Given the description of an element on the screen output the (x, y) to click on. 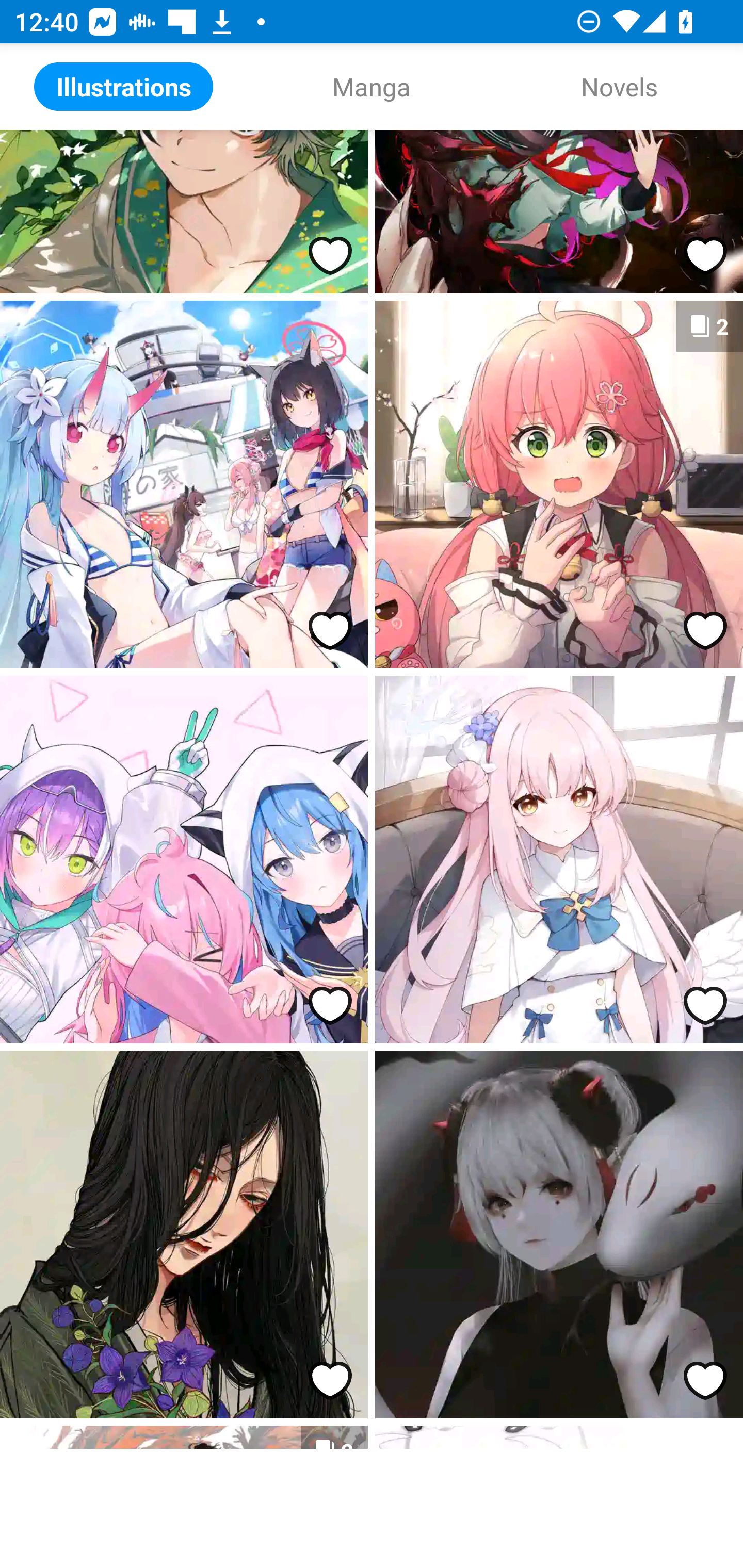
Illustrations (123, 86)
Manga (371, 86)
Novels (619, 86)
2 (559, 484)
